Given the description of an element on the screen output the (x, y) to click on. 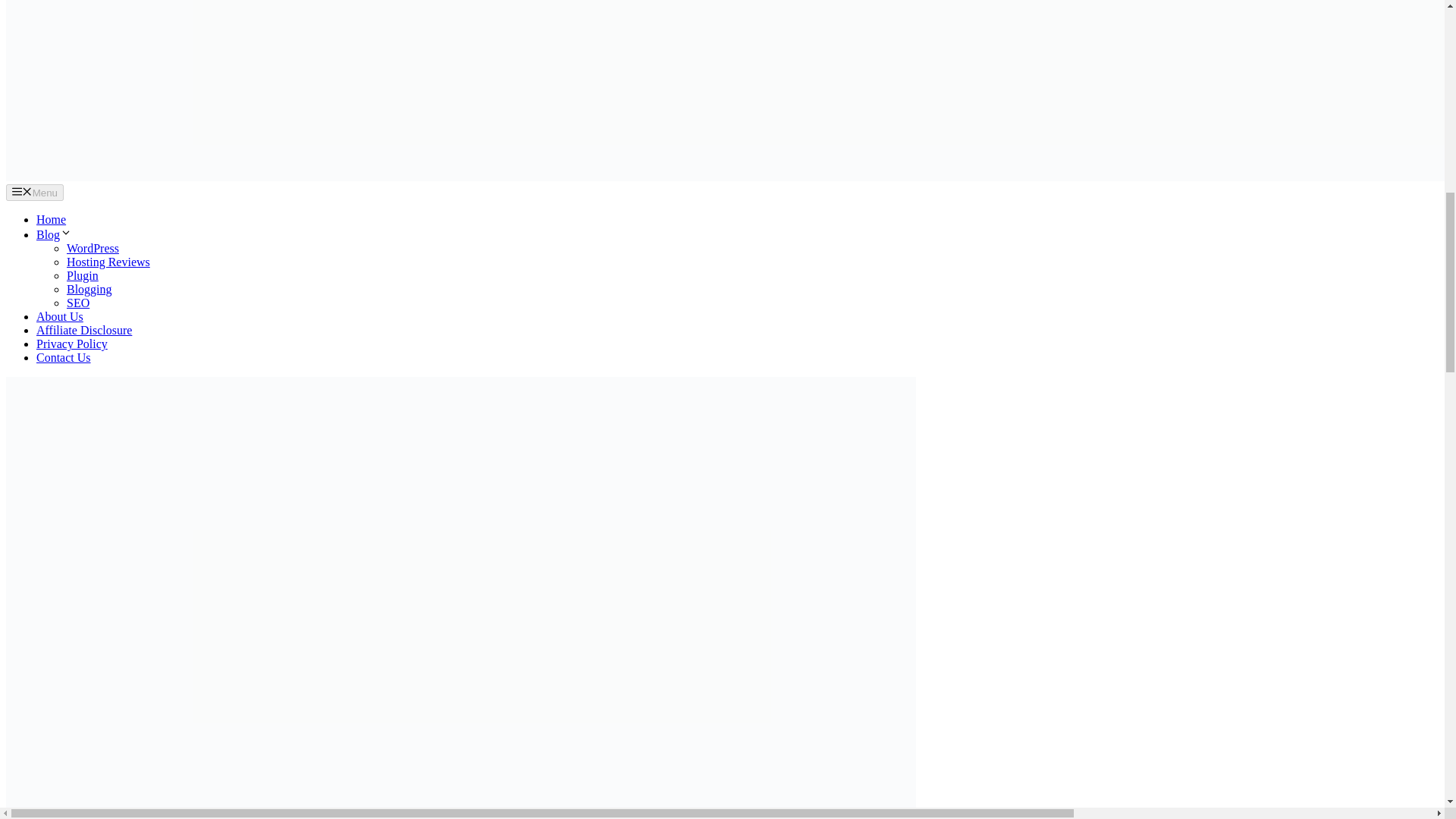
Contact Us (63, 357)
Privacy Policy (71, 343)
Affiliate Disclosure (84, 329)
WordPress (92, 247)
Blog (53, 234)
Hosting Reviews (107, 261)
Blogging (89, 288)
Menu (34, 192)
About Us (59, 316)
Home (50, 219)
SEO (77, 302)
Plugin (82, 275)
